Given the description of an element on the screen output the (x, y) to click on. 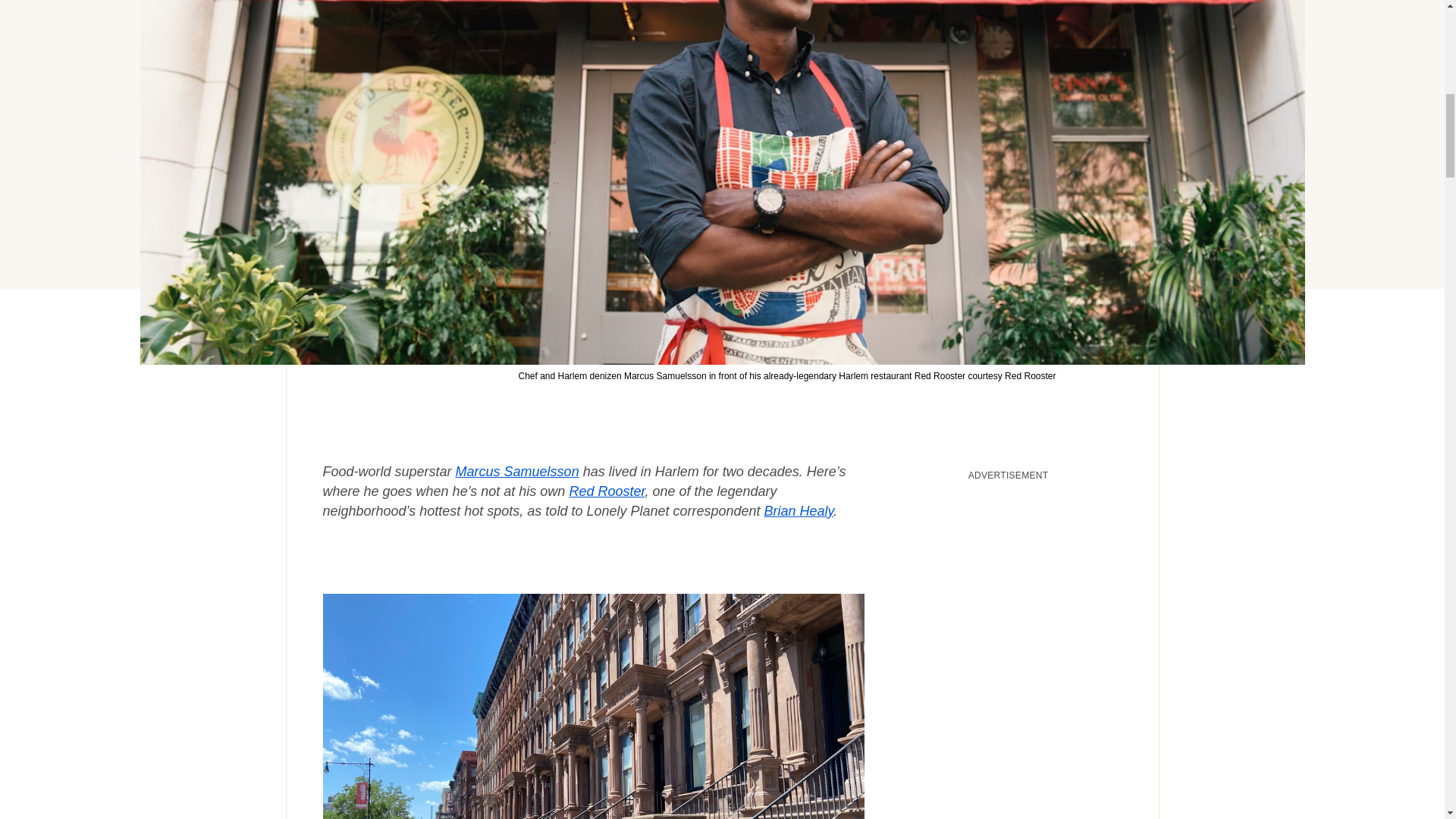
Red Rooster (607, 491)
3rd party ad content (1008, 583)
Marcus Samuelsson (517, 471)
Brian Healy (799, 510)
